Given the description of an element on the screen output the (x, y) to click on. 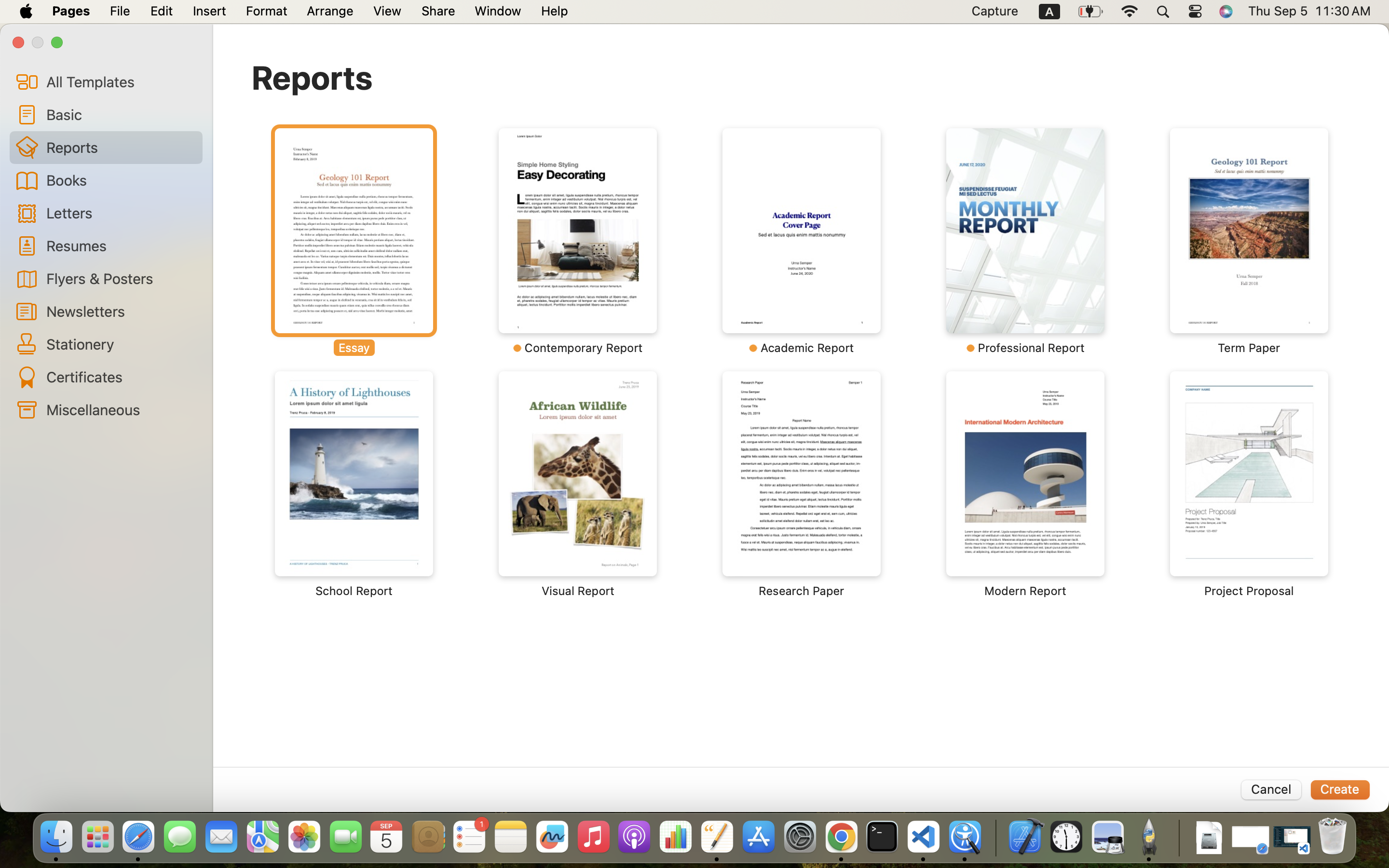
Letters Element type: AXStaticText (120, 212)
‎⁨Research Paper⁩ Element type: AXButton (801, 484)
